Given the description of an element on the screen output the (x, y) to click on. 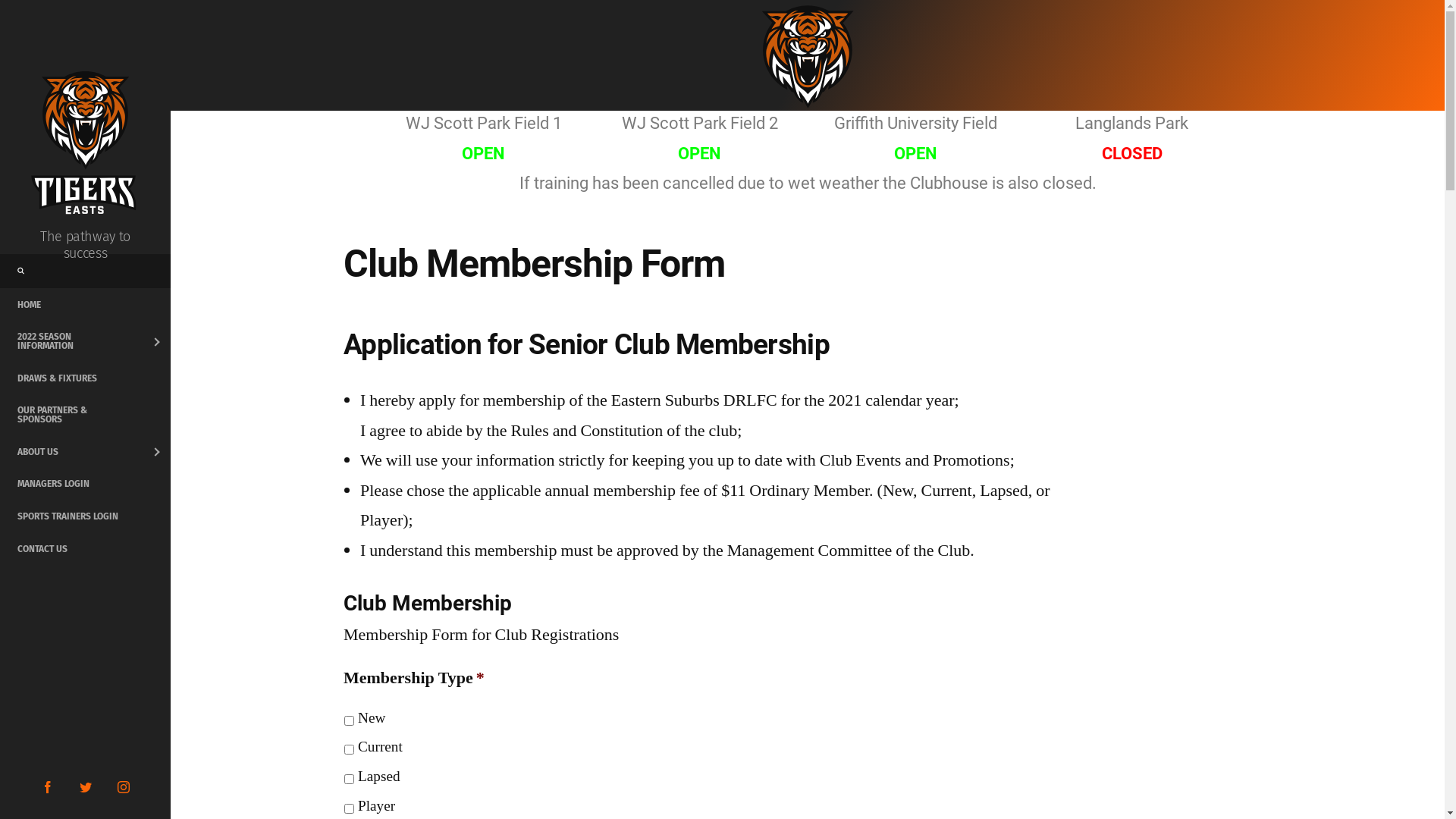
MANAGERS LOGIN Element type: text (85, 483)
CONTACT US Element type: text (85, 548)
OUR PARTNERS & SPONSORS Element type: text (85, 414)
ABOUT US Element type: text (85, 451)
DRAWS & FIXTURES Element type: text (85, 377)
HOME Element type: text (85, 304)
Easts Tigers Head Full Colour Logo Element type: hover (807, 55)
2022 SEASON INFORMATION Element type: text (85, 340)
Search Element type: text (30, 18)
SPORTS TRAINERS LOGIN Element type: text (85, 515)
